Given the description of an element on the screen output the (x, y) to click on. 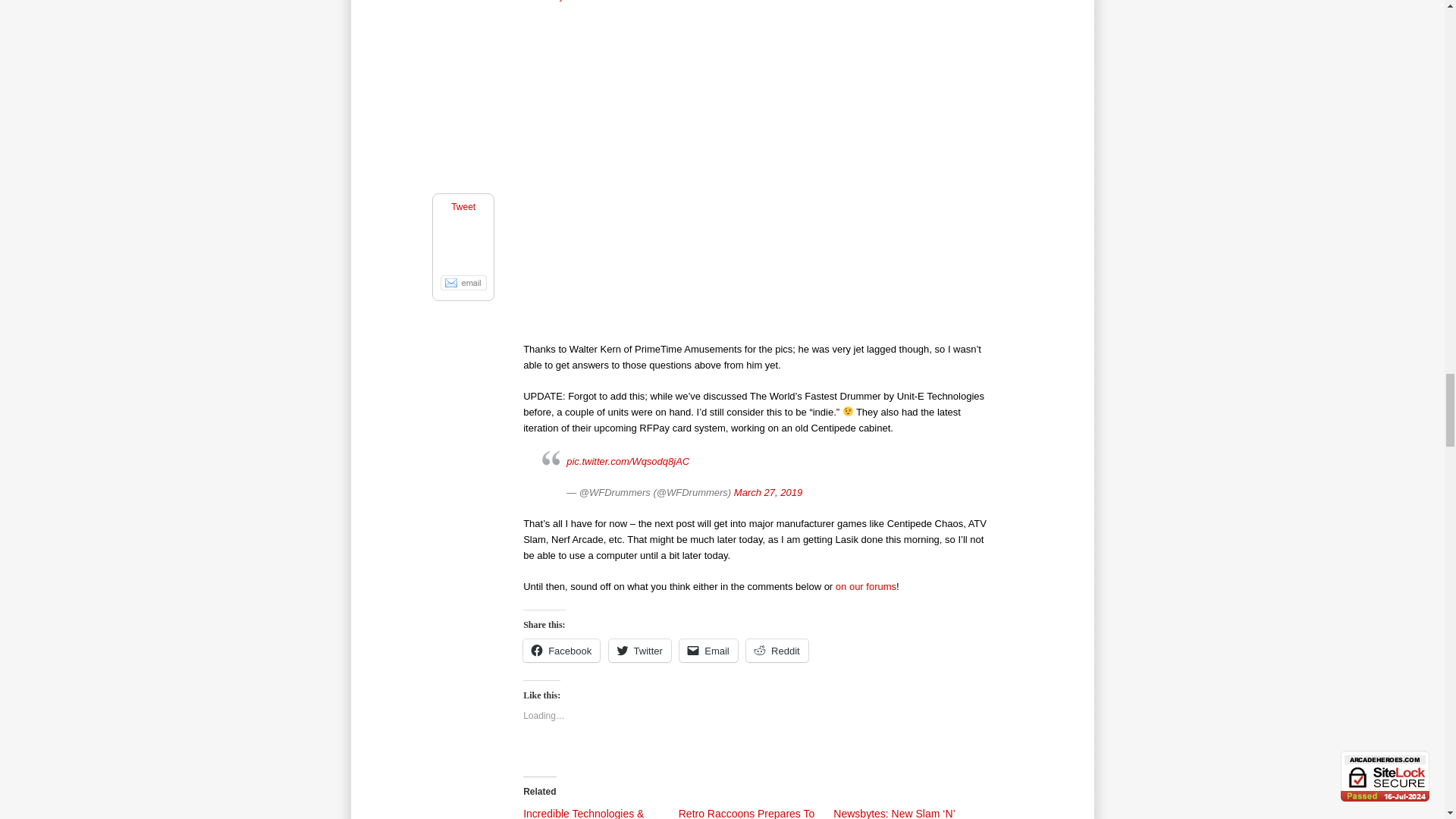
Click to share on Facebook (560, 650)
Click to share on Twitter (639, 650)
Click to share on Reddit (776, 650)
Email (708, 650)
Twitter (639, 650)
Facebook (560, 650)
Reddit (776, 650)
Click to email a link to a friend (708, 650)
March 27, 2019 (767, 491)
on our forums (865, 586)
